Given the description of an element on the screen output the (x, y) to click on. 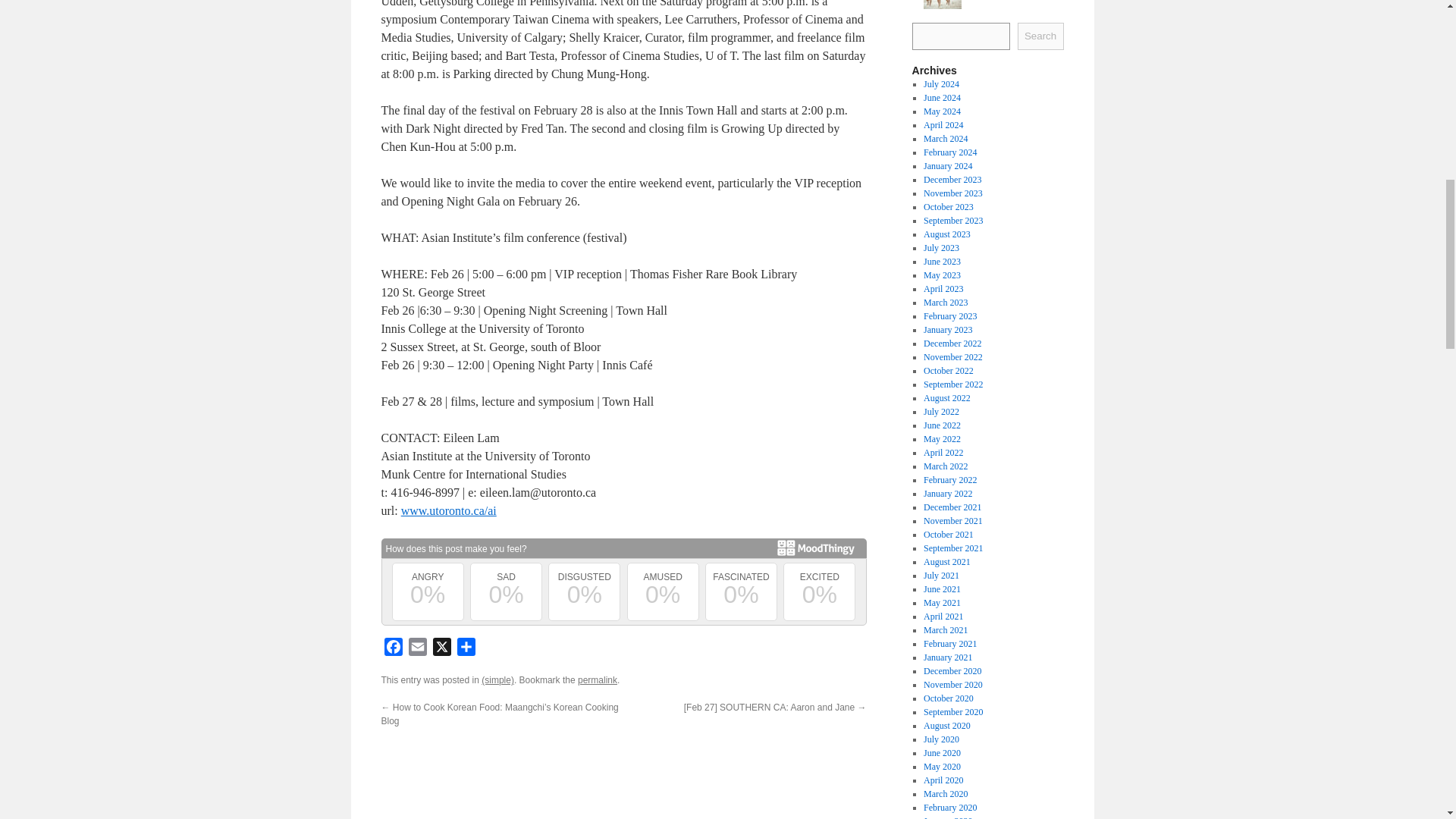
Facebook (392, 649)
Email (416, 649)
Email (416, 649)
permalink (597, 679)
Facebook (392, 649)
X (440, 649)
Share (464, 649)
X (440, 649)
